Given the description of an element on the screen output the (x, y) to click on. 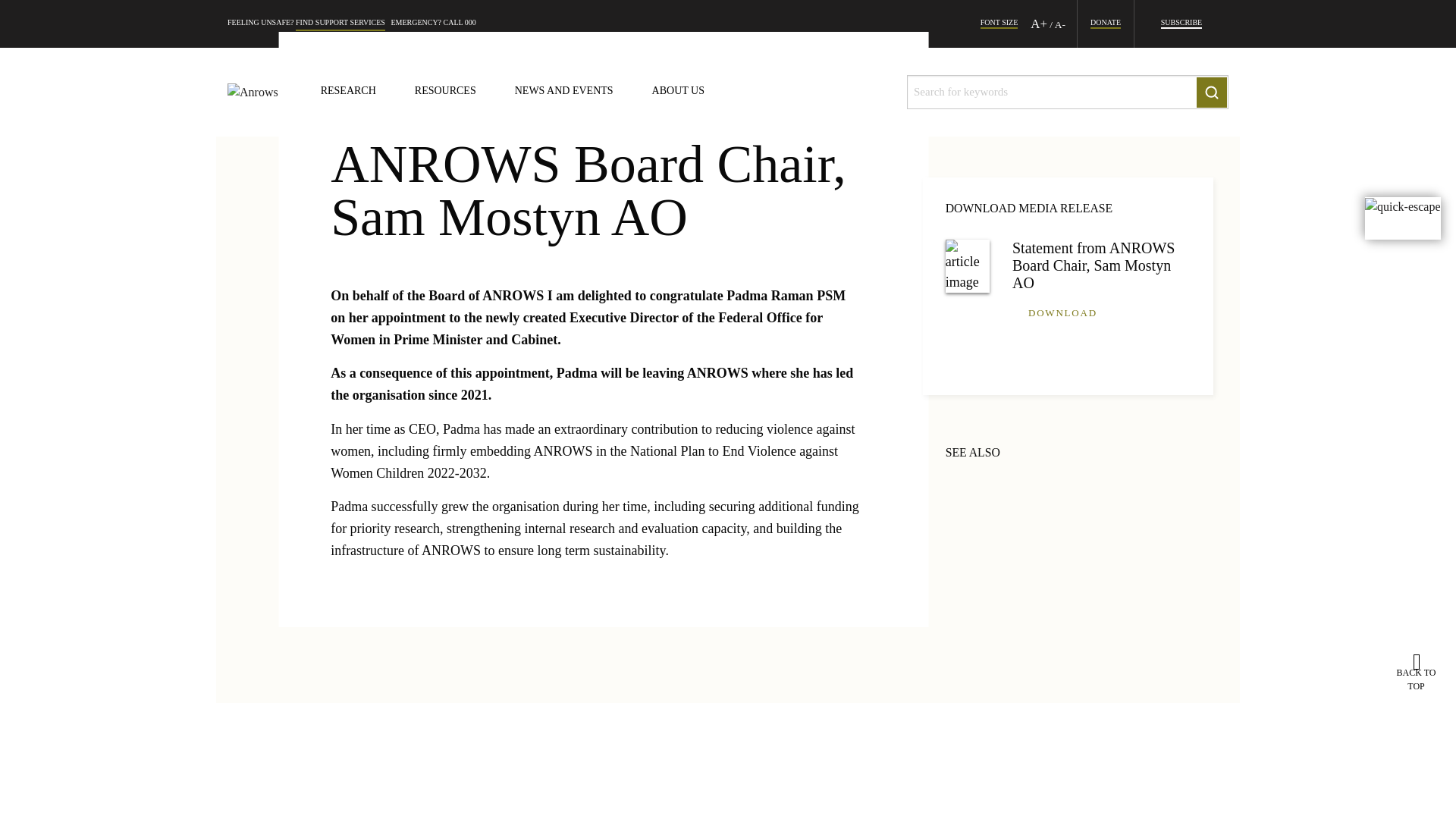
ABOUT US (678, 91)
FONT SIZE (999, 23)
DONATE (1105, 23)
mgmResources (445, 91)
NEWS AND EVENTS (563, 91)
FIND SUPPORT SERVICES (340, 23)
SUBSCRIBE (1181, 23)
mgmEvents (563, 91)
RESEARCH (347, 91)
mgmAbout (678, 91)
mgmResearch (347, 91)
RESOURCES (445, 91)
